Given the description of an element on the screen output the (x, y) to click on. 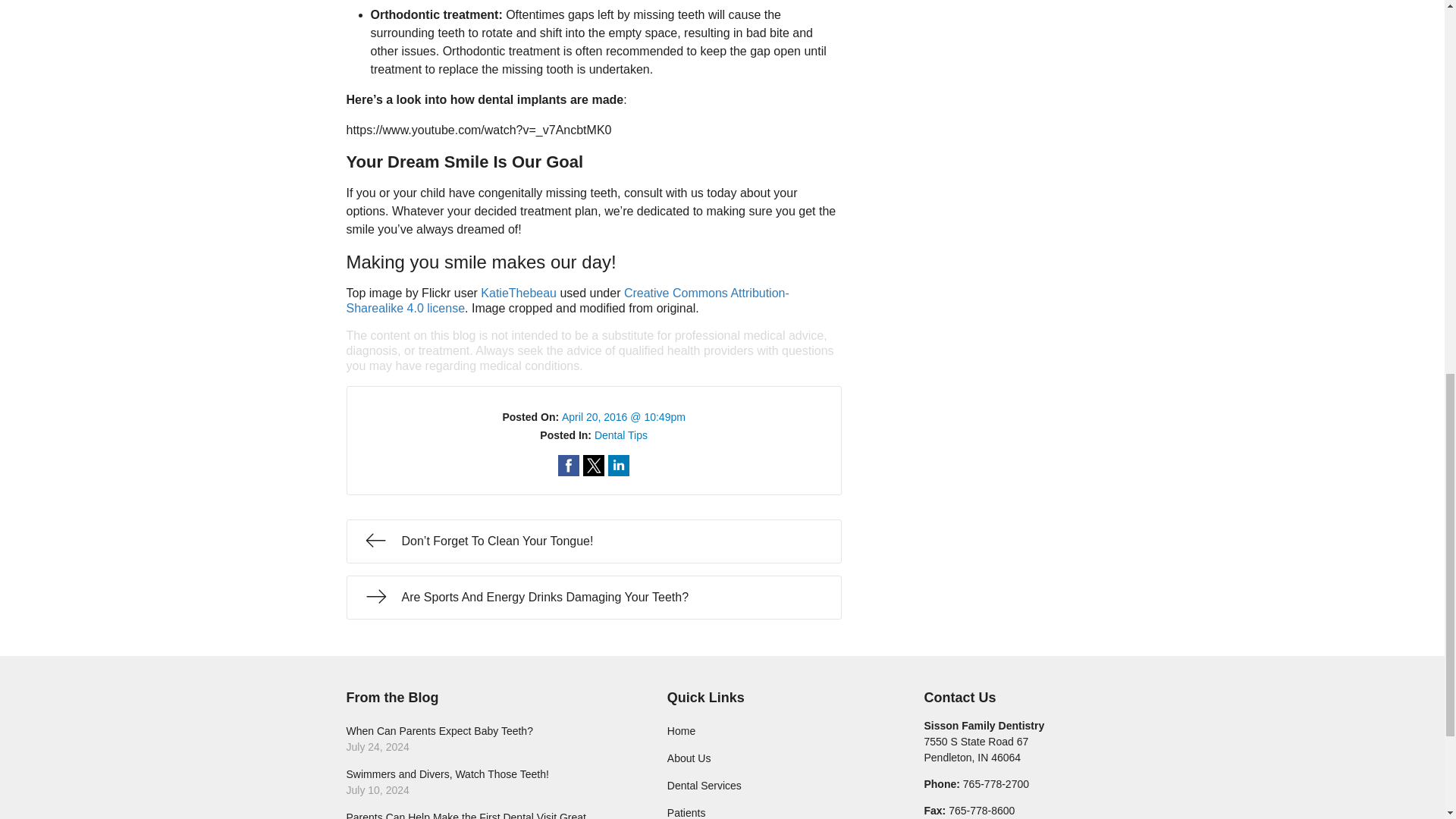
Share on LinkedIn (618, 465)
About Us (485, 739)
Share on LinkedIn (775, 758)
Share on Facebook (618, 465)
Dental Tips (568, 465)
Share on Twitter (620, 435)
Share on Twitter (593, 465)
Open this address in Google Maps (593, 465)
Share on Facebook (975, 749)
Are Sports And Energy Drinks Damaging Your Teeth? (568, 465)
Creative Commons Attribution-Sharealike 4.0 license (593, 597)
KatieThebeau (567, 300)
Contact practice (518, 292)
